Given the description of an element on the screen output the (x, y) to click on. 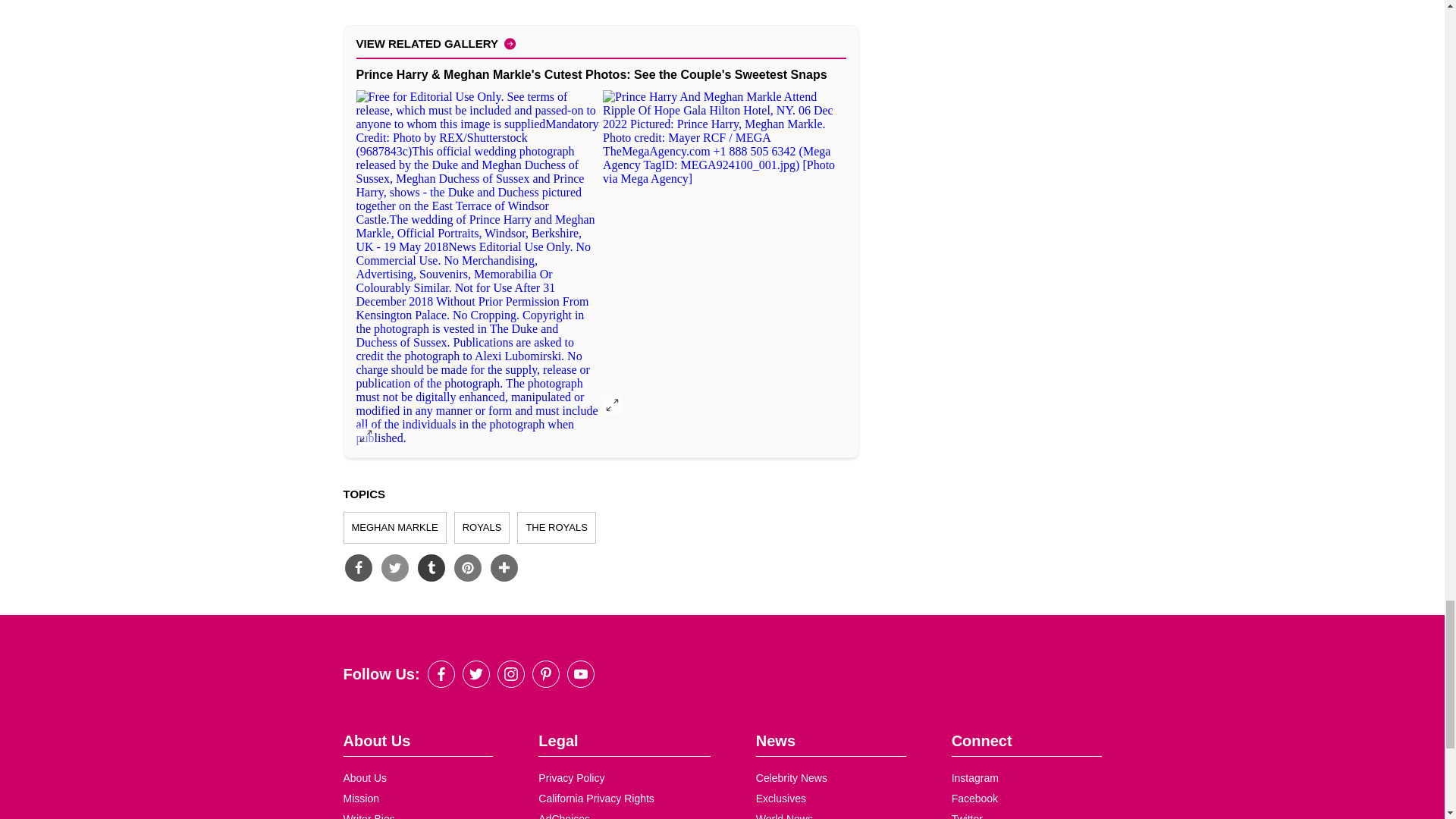
More Share Options (502, 567)
Pin it (466, 567)
Post to Tumblr (430, 567)
Share on Facebook (357, 567)
Tweet (393, 567)
